Given the description of an element on the screen output the (x, y) to click on. 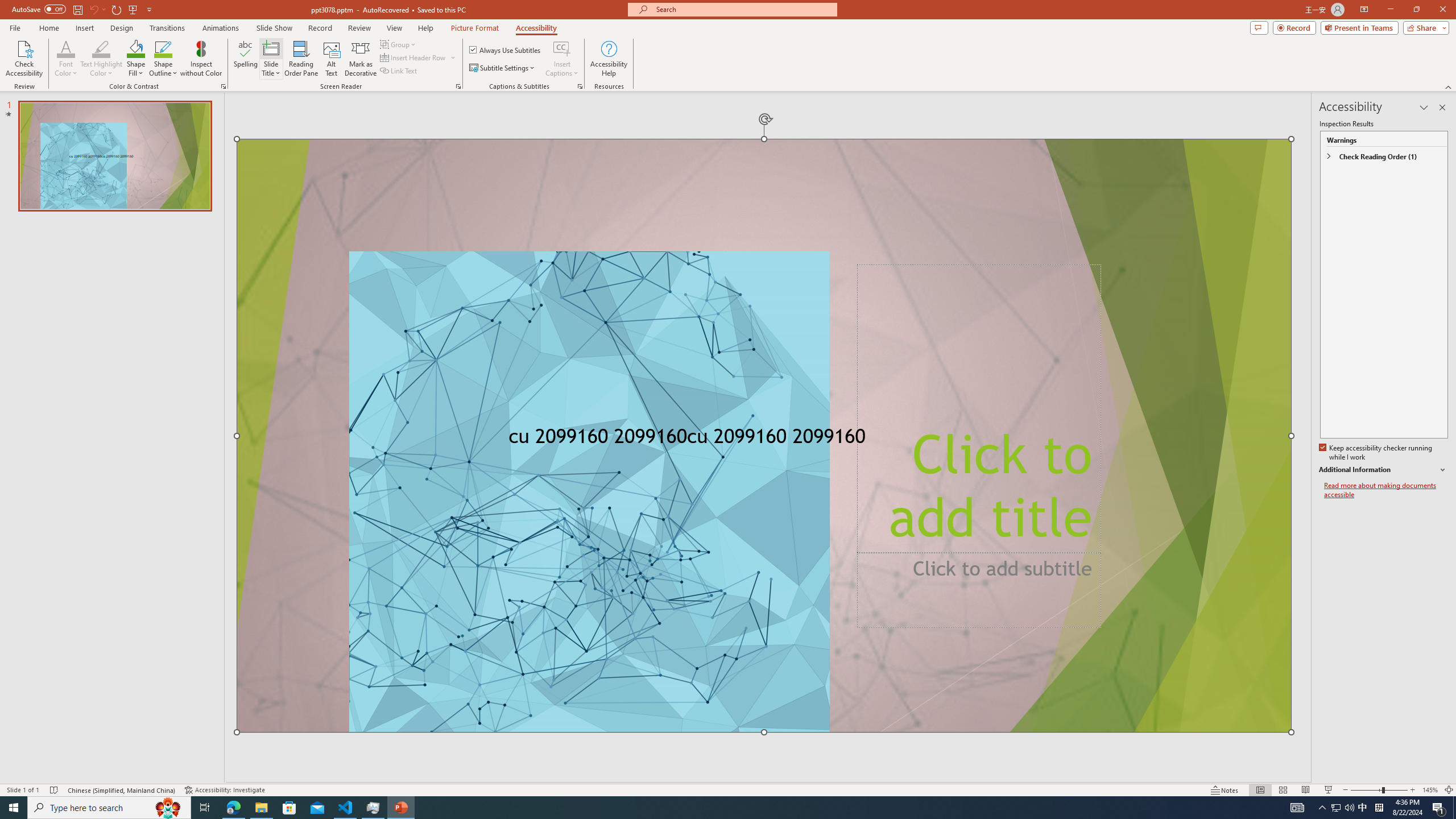
Link Text (399, 69)
Reading Order Pane (301, 58)
Captions & Subtitles (580, 85)
Zoom 145% (1430, 790)
Always Use Subtitles (505, 49)
